Given the description of an element on the screen output the (x, y) to click on. 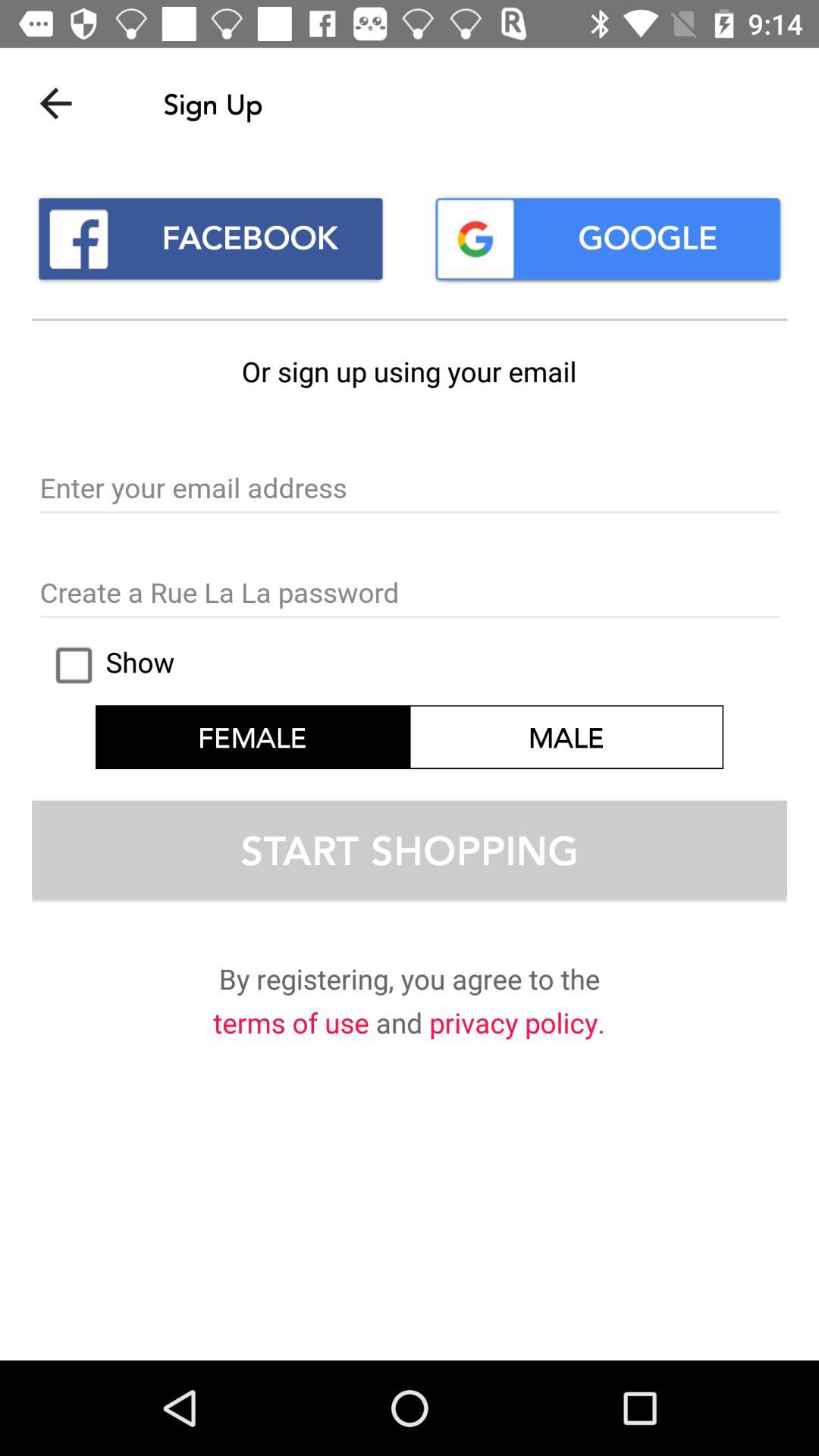
turn off the icon next to the male icon (252, 736)
